Given the description of an element on the screen output the (x, y) to click on. 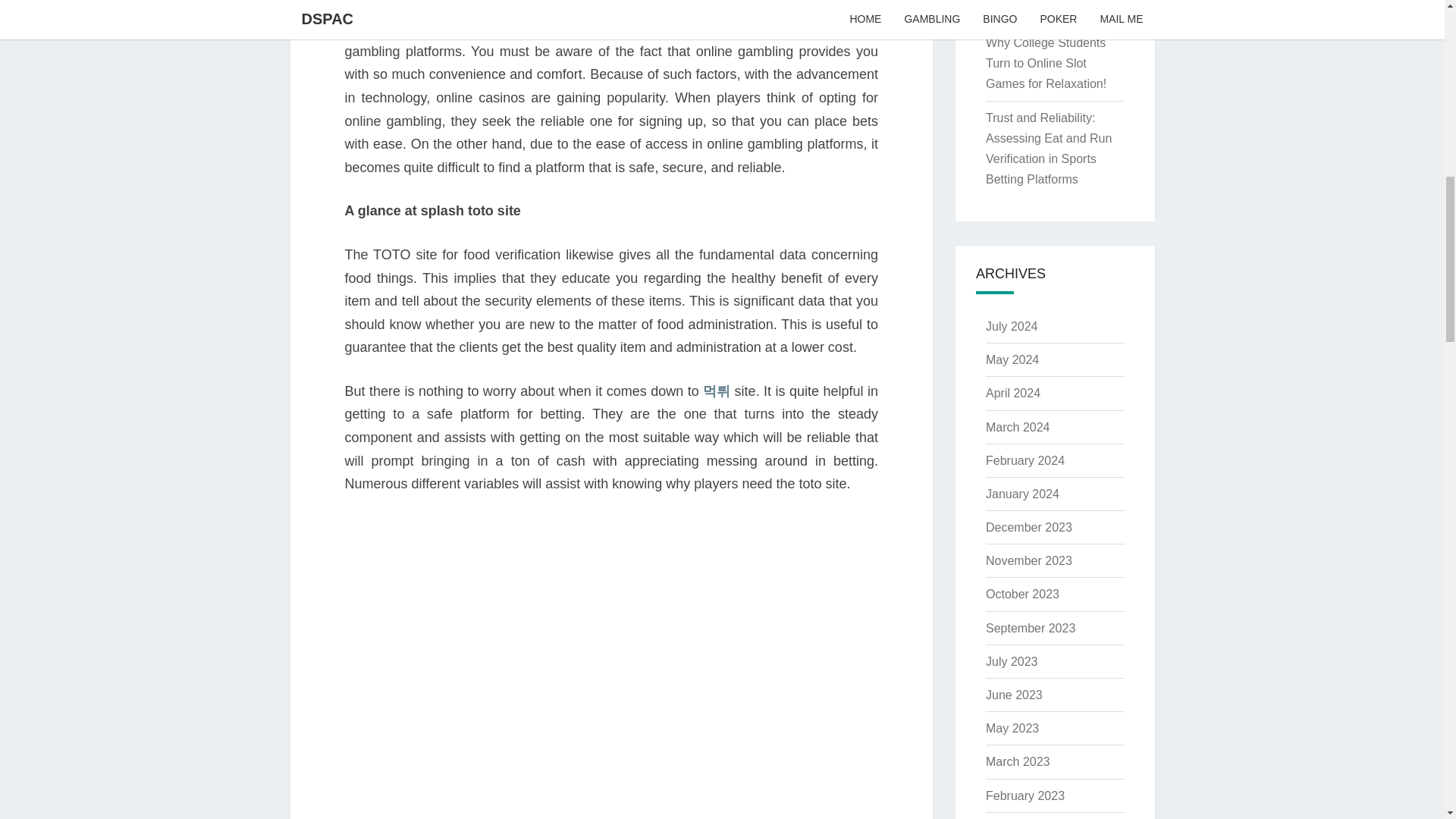
July 2023 (1011, 661)
January 2024 (1022, 493)
May 2023 (1012, 727)
March 2024 (1017, 426)
June 2023 (1013, 694)
March 2023 (1017, 761)
July 2024 (1011, 326)
November 2023 (1028, 560)
May 2024 (1012, 359)
February 2024 (1024, 460)
September 2023 (1030, 627)
October 2023 (1022, 594)
December 2023 (1028, 526)
